Given the description of an element on the screen output the (x, y) to click on. 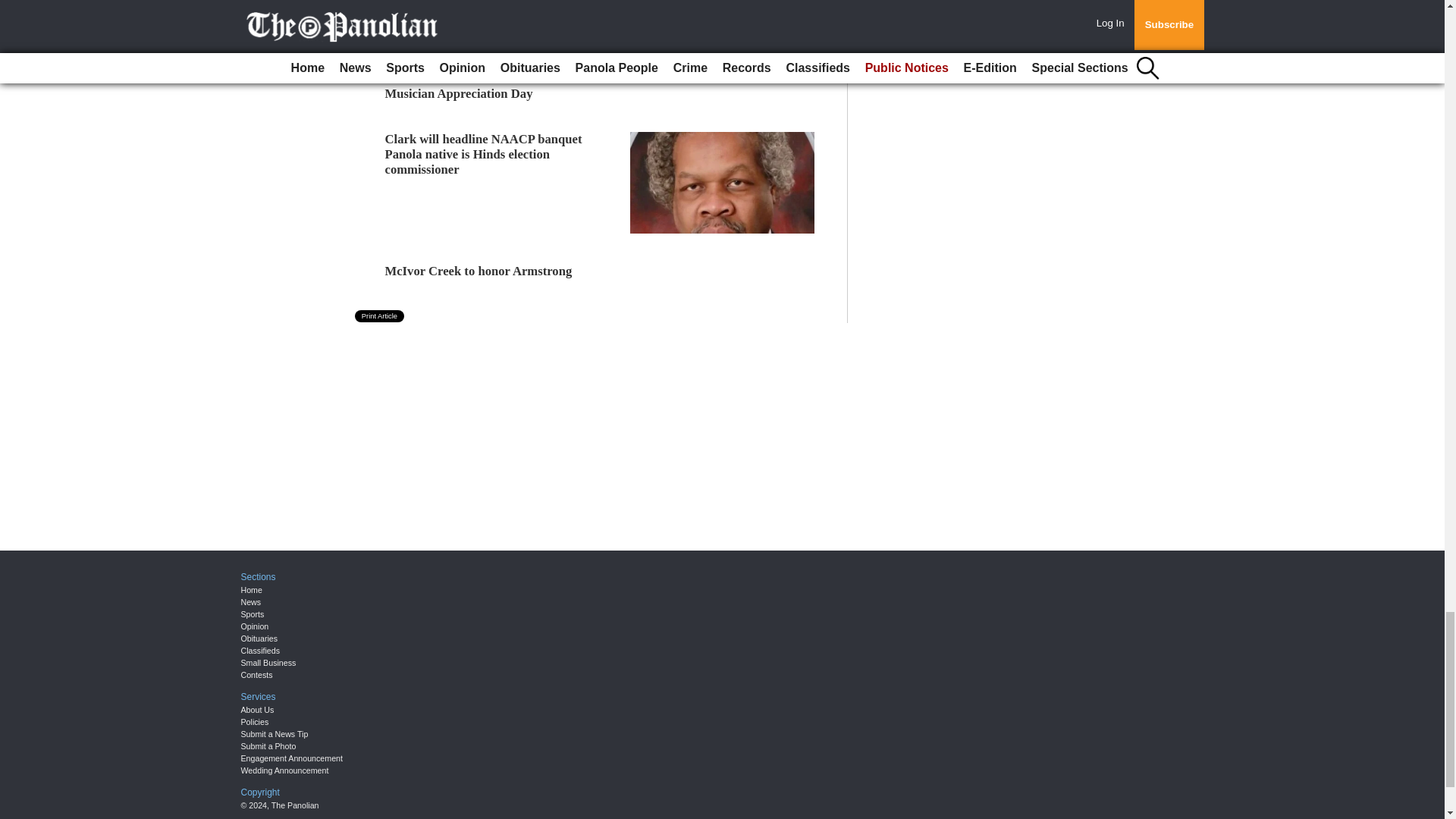
News (251, 601)
Print Article (379, 316)
Home (251, 589)
Musician Appreciation Day (458, 93)
Musician Appreciation Day (458, 93)
McIvor Creek to honor Armstrong (478, 270)
Obituaries (259, 637)
Persimmon Hill sets revival (458, 47)
Persimmon Hill sets revival (458, 47)
McIvor Creek to honor Armstrong (478, 270)
Sports (252, 614)
Opinion (255, 625)
Classifieds (261, 650)
